Given the description of an element on the screen output the (x, y) to click on. 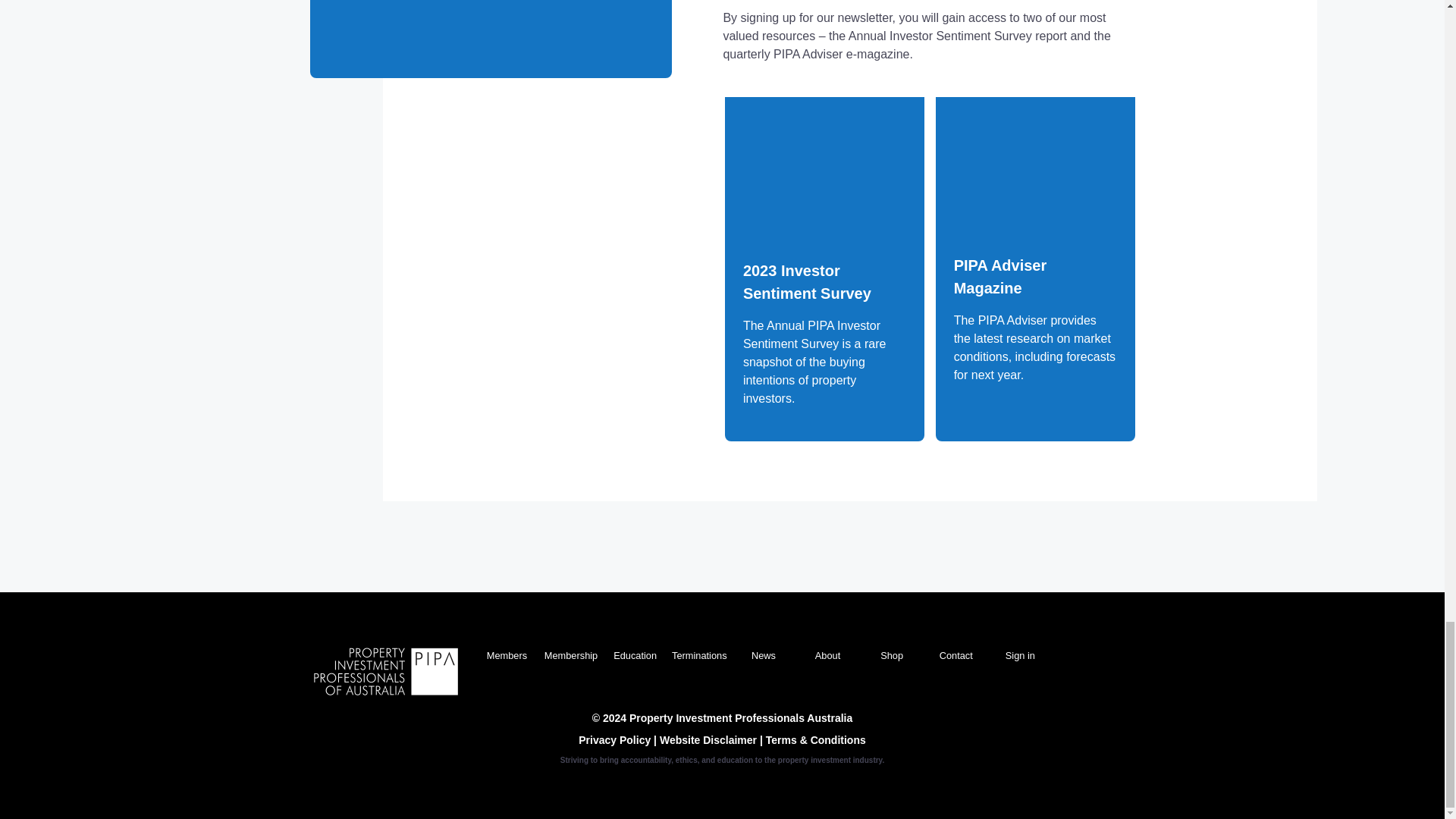
News (763, 655)
About (827, 655)
Sign in (1020, 655)
Shop (891, 655)
Contact (955, 655)
Terminations (698, 655)
Membership (570, 655)
Privacy Policy (615, 739)
Members (506, 655)
Education (634, 655)
